Given the description of an element on the screen output the (x, y) to click on. 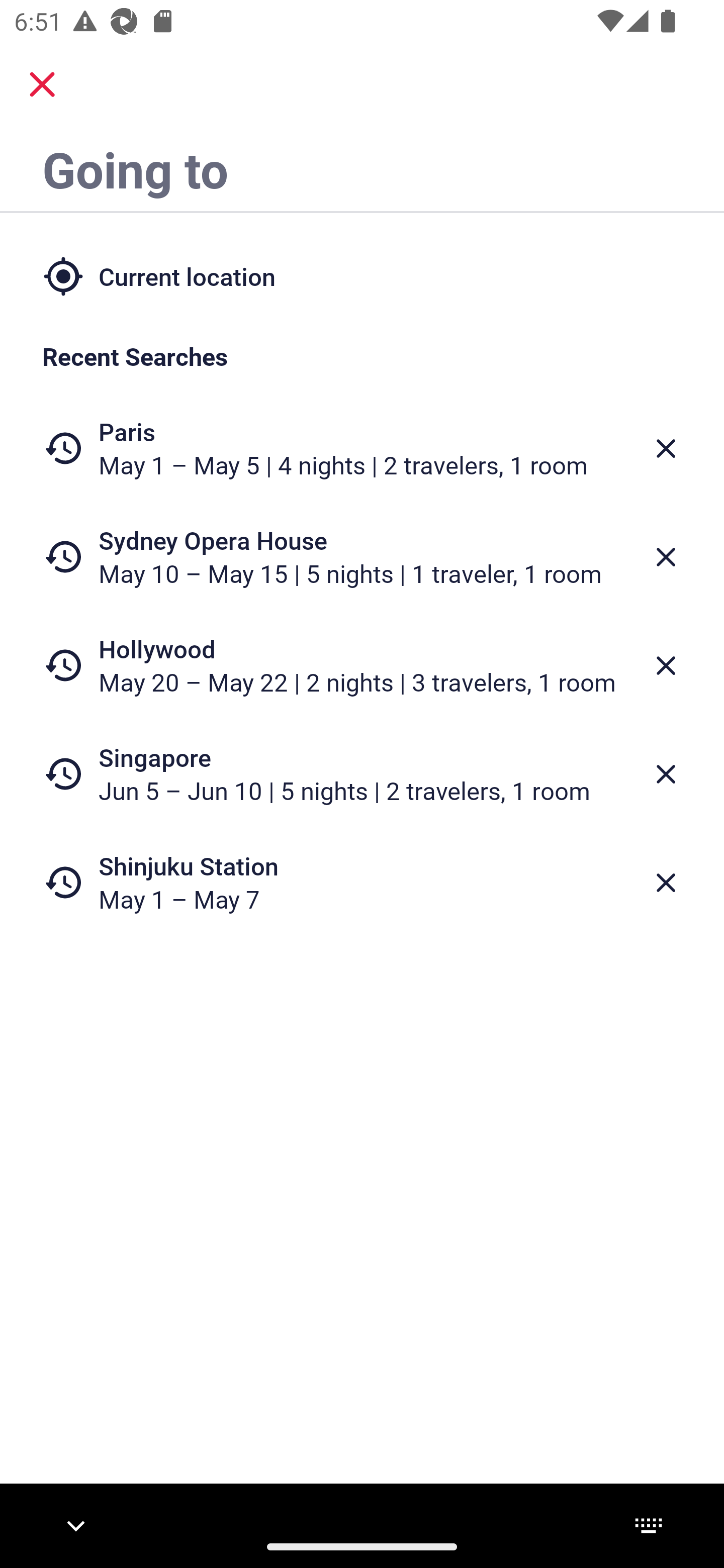
close. (42, 84)
Current location (362, 275)
Delete from recent searches (666, 448)
Delete from recent searches (666, 556)
Delete from recent searches (666, 666)
Delete from recent searches (666, 774)
Shinjuku Station May 1 – May 7 (362, 881)
Delete from recent searches (666, 882)
